Given the description of an element on the screen output the (x, y) to click on. 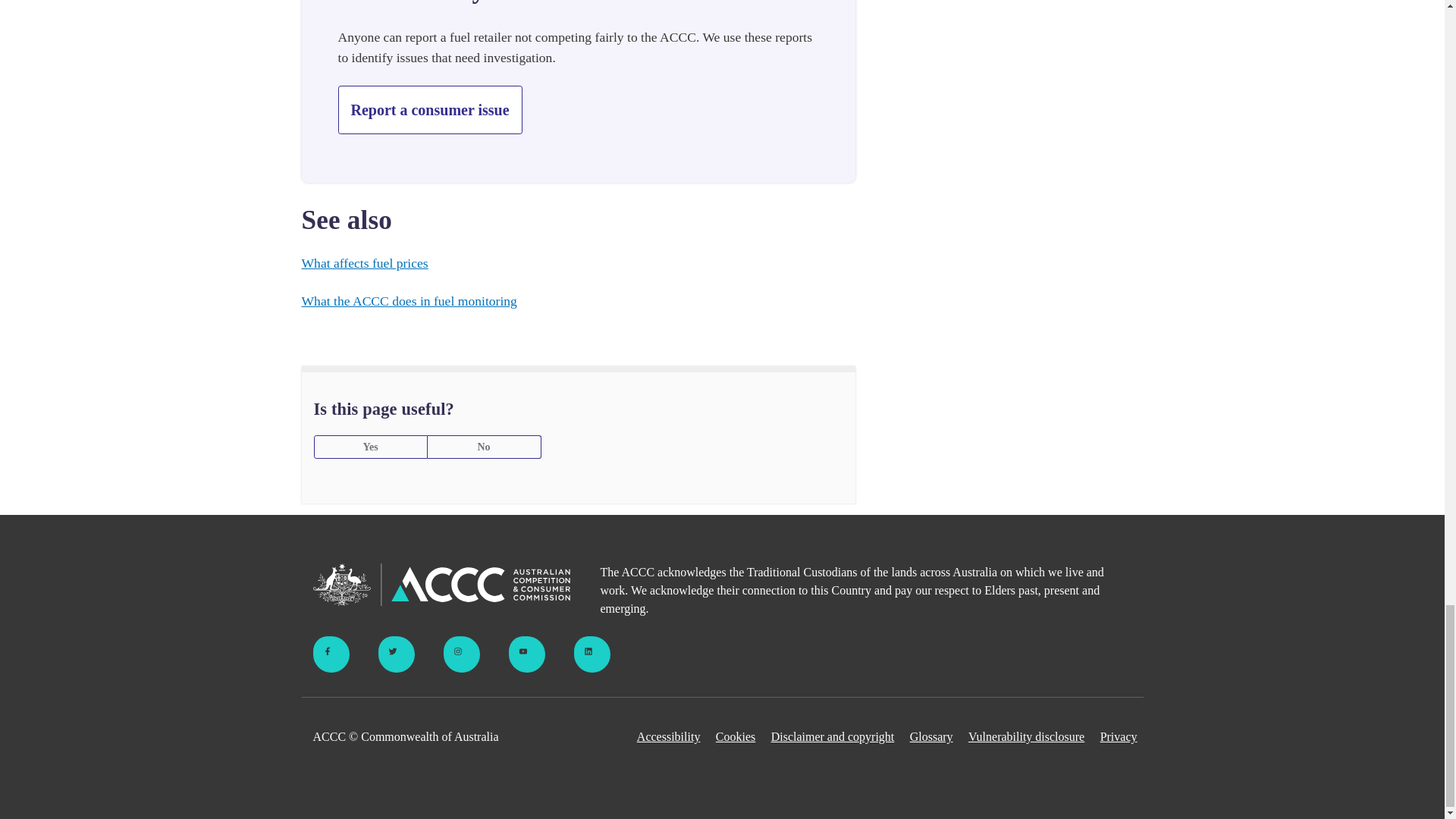
Cookies and website analytics (735, 737)
